Given the description of an element on the screen output the (x, y) to click on. 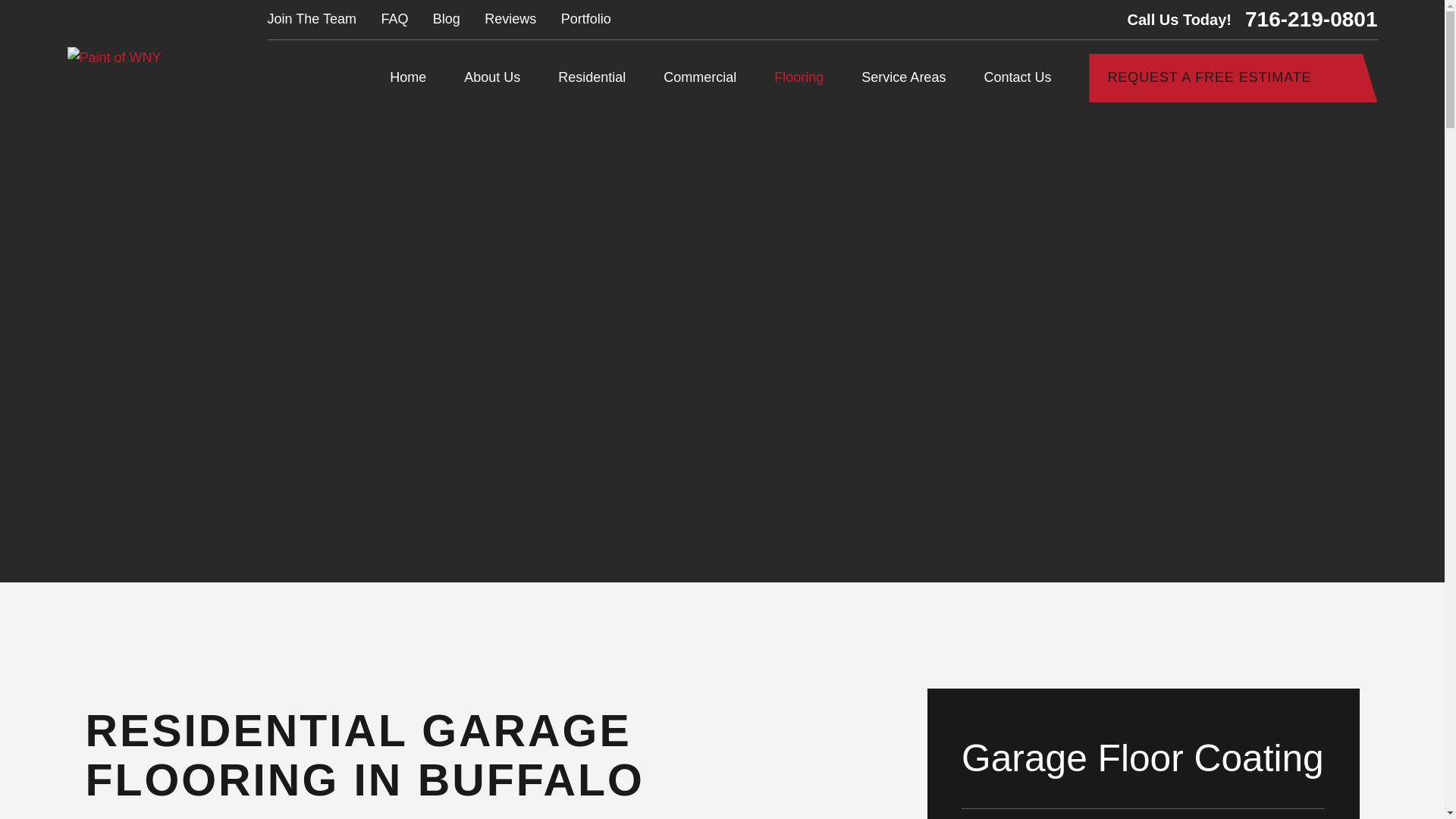
716-219-0801 (1310, 19)
Join The Team (311, 18)
Service Areas (902, 78)
Blog (446, 18)
Commercial (699, 78)
Portfolio (585, 18)
Flooring (799, 78)
Reviews (509, 18)
About Us (491, 78)
Home (113, 58)
Residential (591, 78)
FAQ (393, 18)
Paint of WNY (113, 57)
